Given the description of an element on the screen output the (x, y) to click on. 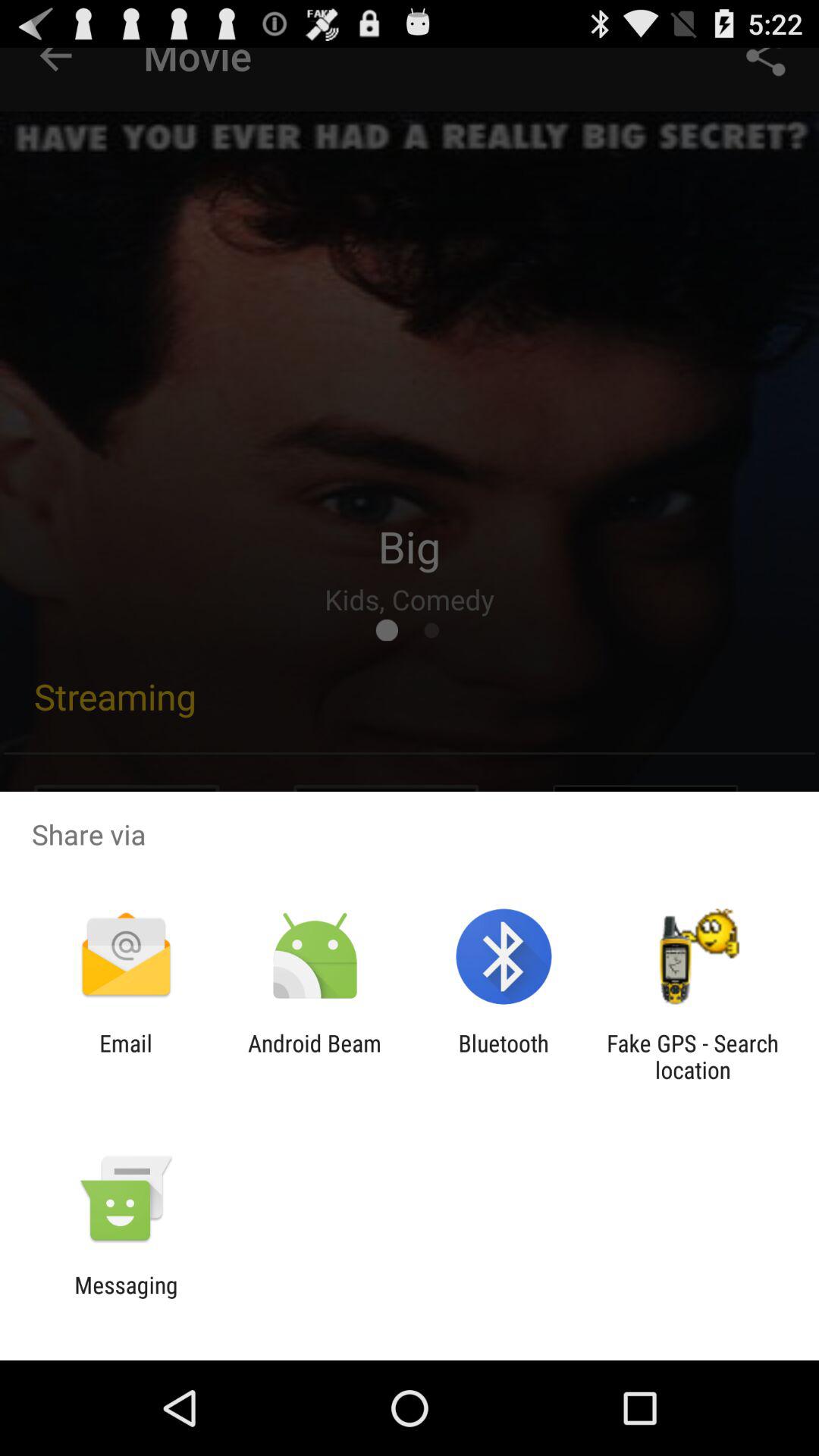
swipe until messaging (126, 1298)
